Given the description of an element on the screen output the (x, y) to click on. 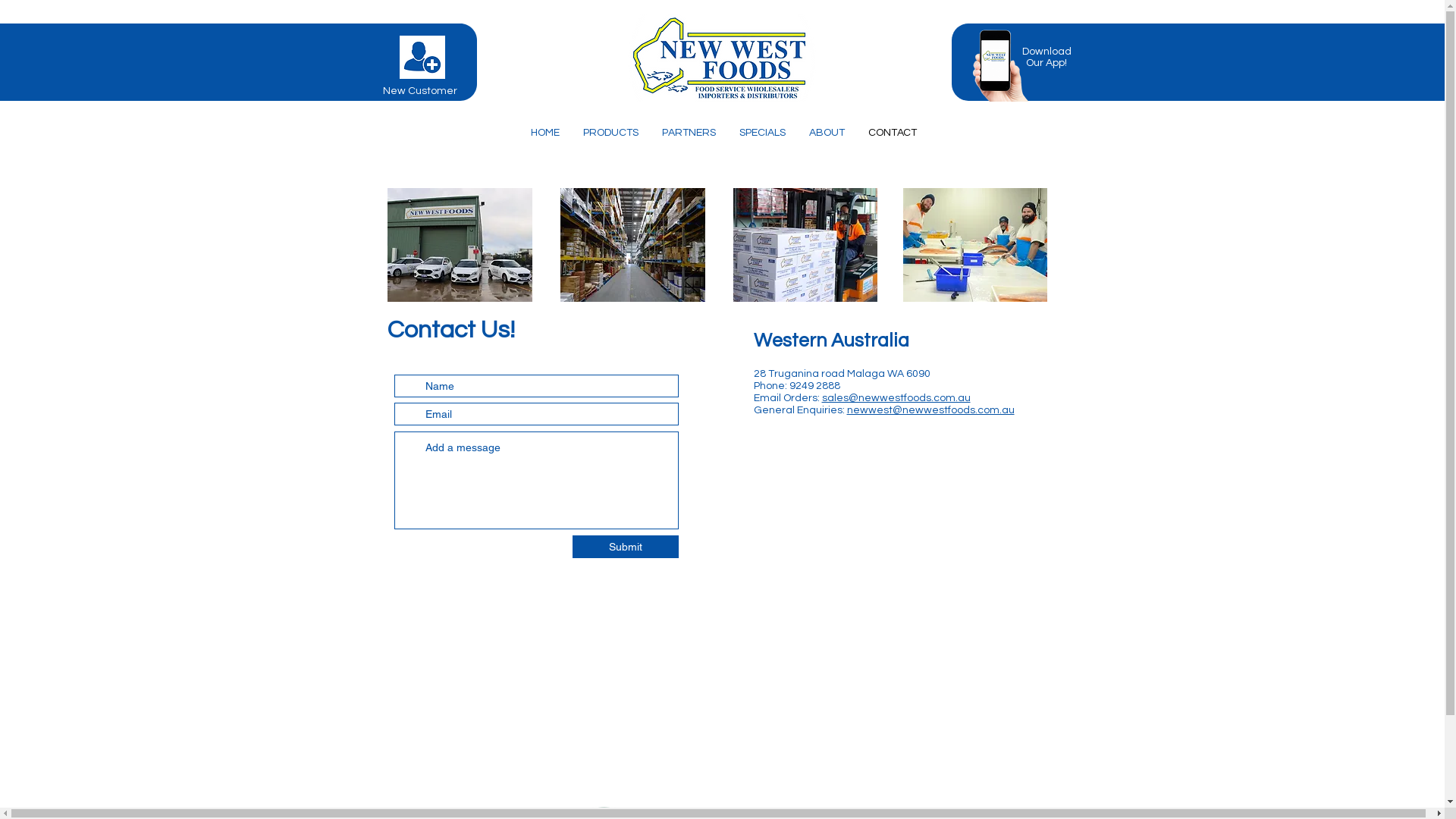
HOME Element type: text (544, 132)
New Customer Element type: text (419, 90)
Google Maps Element type: hover (898, 561)
SPECIALS Element type: text (762, 132)
ABOUT Element type: text (826, 132)
PARTNERS Element type: text (688, 132)
PRODUCTS Element type: text (610, 132)
newwest@newwestfoods.com.au Element type: text (929, 409)
Download Our App! Element type: text (1046, 56)
CONTACT Element type: text (892, 132)
sales@newwestfoods.com.au Element type: text (896, 397)
Submit Element type: text (624, 546)
